Given the description of an element on the screen output the (x, y) to click on. 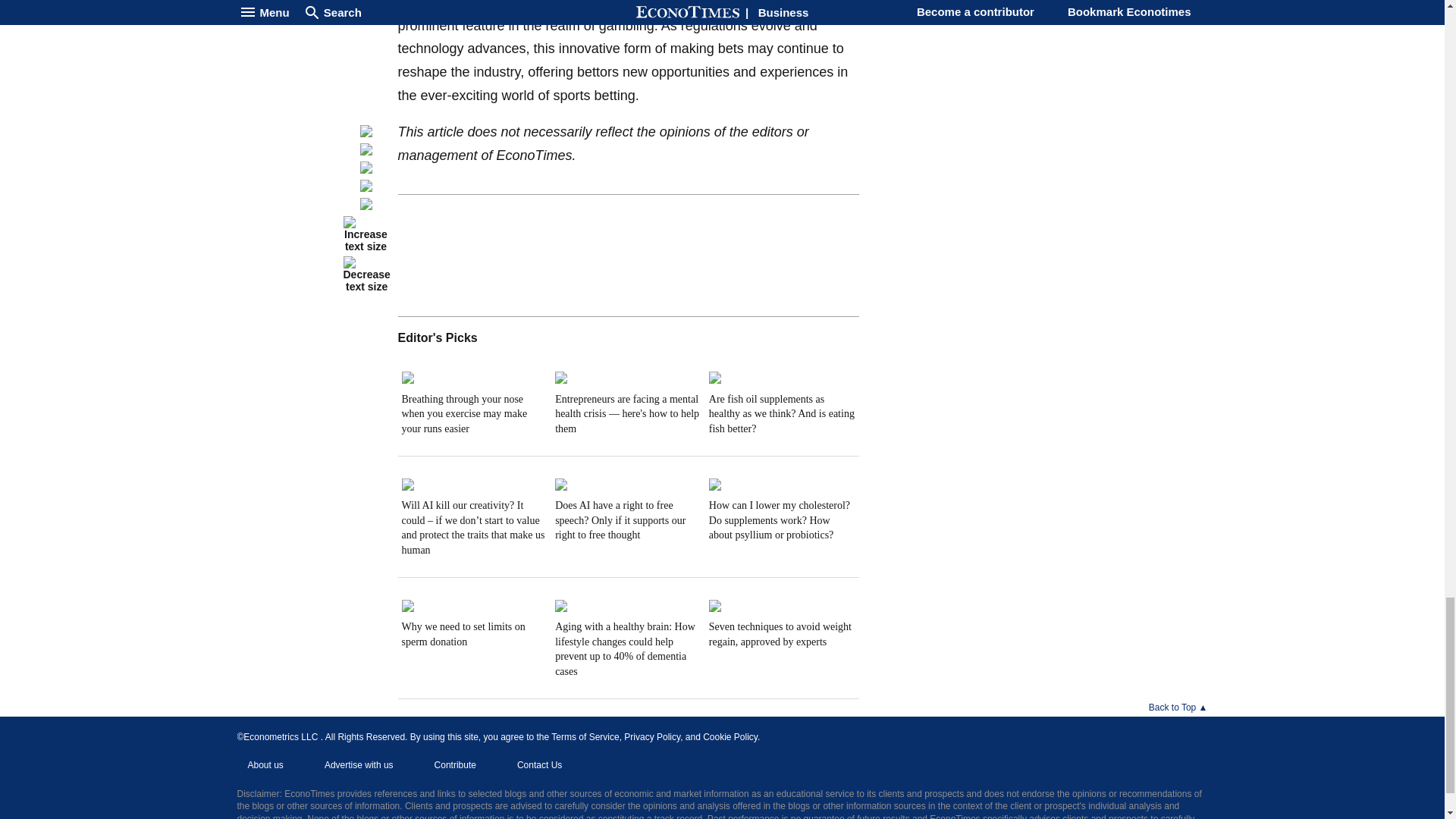
FastComments (628, 251)
